Given the description of an element on the screen output the (x, y) to click on. 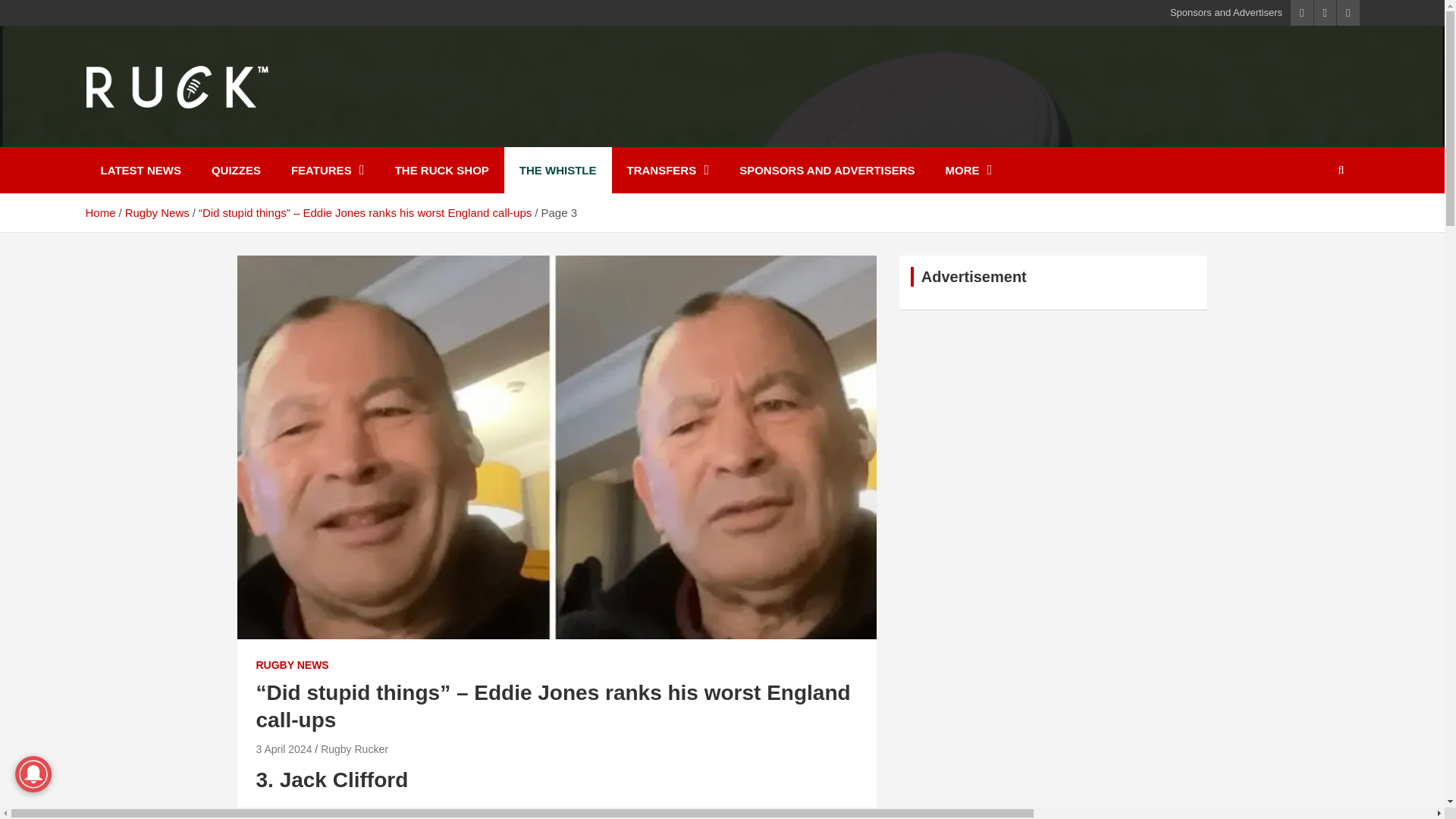
LATEST NEWS (139, 170)
Ruck (121, 136)
Home (99, 212)
SPONSORS AND ADVERTISERS (826, 170)
Rugby Rucker (354, 748)
THE RUCK SHOP (441, 170)
MORE (968, 170)
QUIZZES (236, 170)
Rugby News (157, 212)
Sponsors and Advertisers (1226, 12)
RUGBY NEWS (292, 665)
TRANSFERS (667, 170)
FEATURES (328, 170)
THE WHISTLE (557, 170)
3 April 2024 (284, 748)
